Given the description of an element on the screen output the (x, y) to click on. 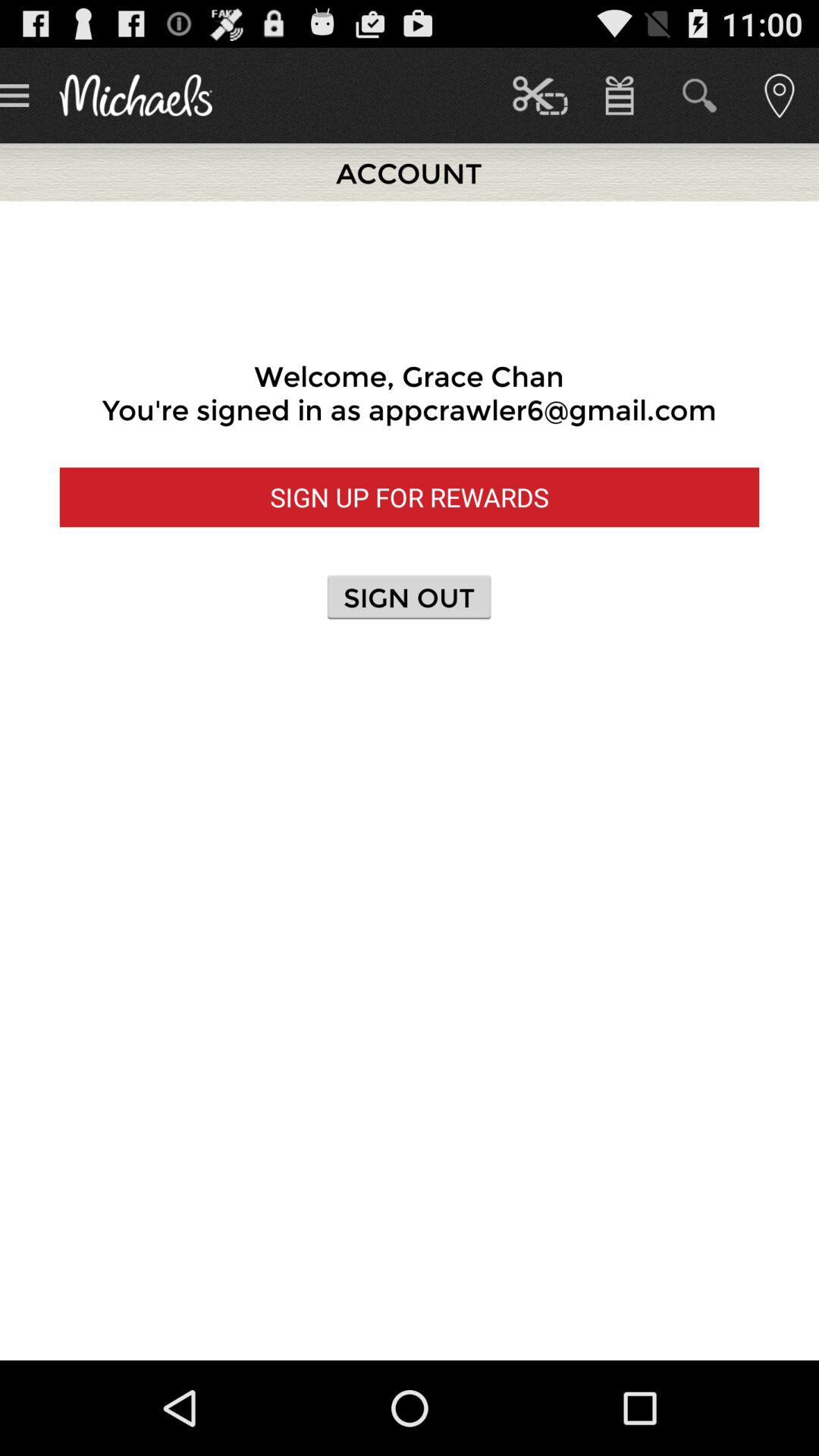
press sign up for item (409, 497)
